Given the description of an element on the screen output the (x, y) to click on. 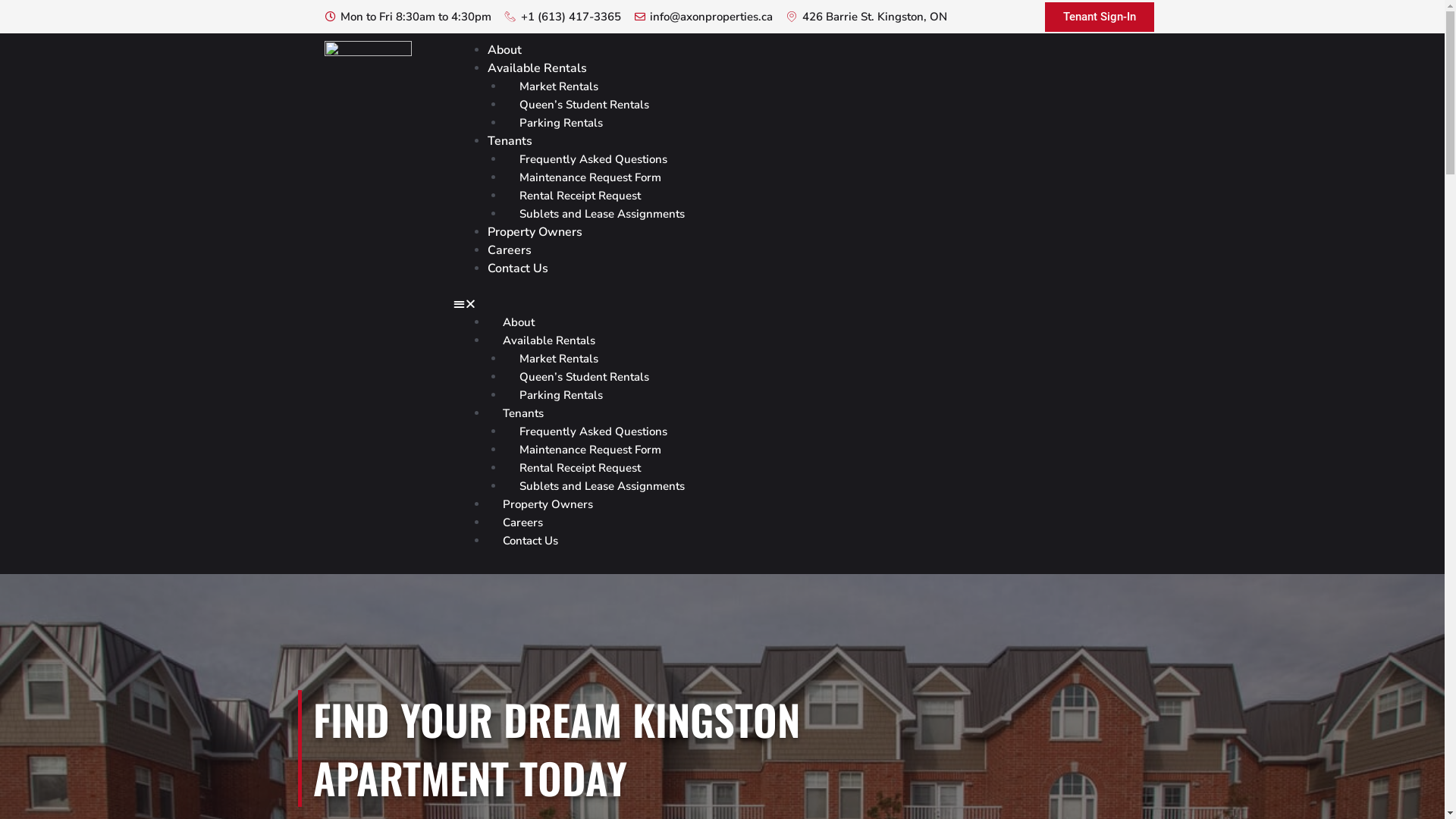
info@axonproperties.ca Element type: text (703, 16)
Available Rentals Element type: text (548, 339)
Maintenance Request Form Element type: text (590, 448)
Careers Element type: text (509, 249)
About Element type: text (504, 49)
Contact Us Element type: text (517, 268)
Contact Us Element type: text (530, 539)
Rental Receipt Request Element type: text (579, 466)
Parking Rentals Element type: text (561, 393)
Frequently Asked Questions Element type: text (593, 430)
Tenants Element type: text (522, 412)
+1 (613) 417-3365 Element type: text (562, 16)
Tenants Element type: text (509, 140)
Market Rentals Element type: text (558, 86)
Market Rentals Element type: text (558, 357)
426 Barrie St. Kingston, ON Element type: text (865, 16)
Frequently Asked Questions Element type: text (593, 158)
Property Owners Element type: text (534, 231)
Sublets and Lease Assignments Element type: text (601, 484)
About Element type: text (518, 321)
Parking Rentals Element type: text (561, 122)
Available Rentals Element type: text (536, 67)
Sublets and Lease Assignments Element type: text (601, 213)
Property Owners Element type: text (547, 503)
Careers Element type: text (522, 521)
Maintenance Request Form Element type: text (590, 177)
Tenant Sign-In Element type: text (1099, 16)
Rental Receipt Request Element type: text (579, 195)
